Given the description of an element on the screen output the (x, y) to click on. 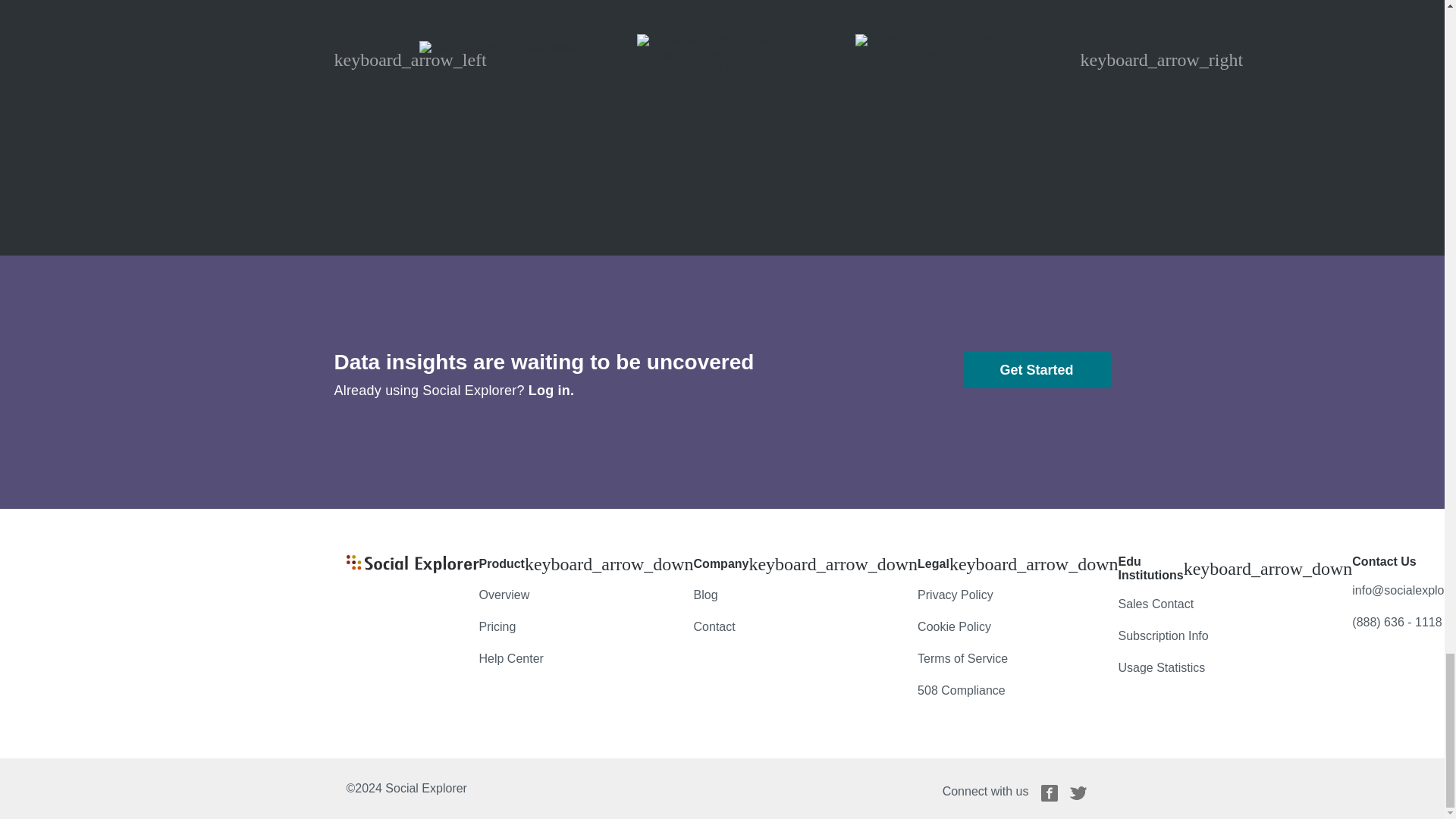
Social Explorer Company (412, 568)
